Given the description of an element on the screen output the (x, y) to click on. 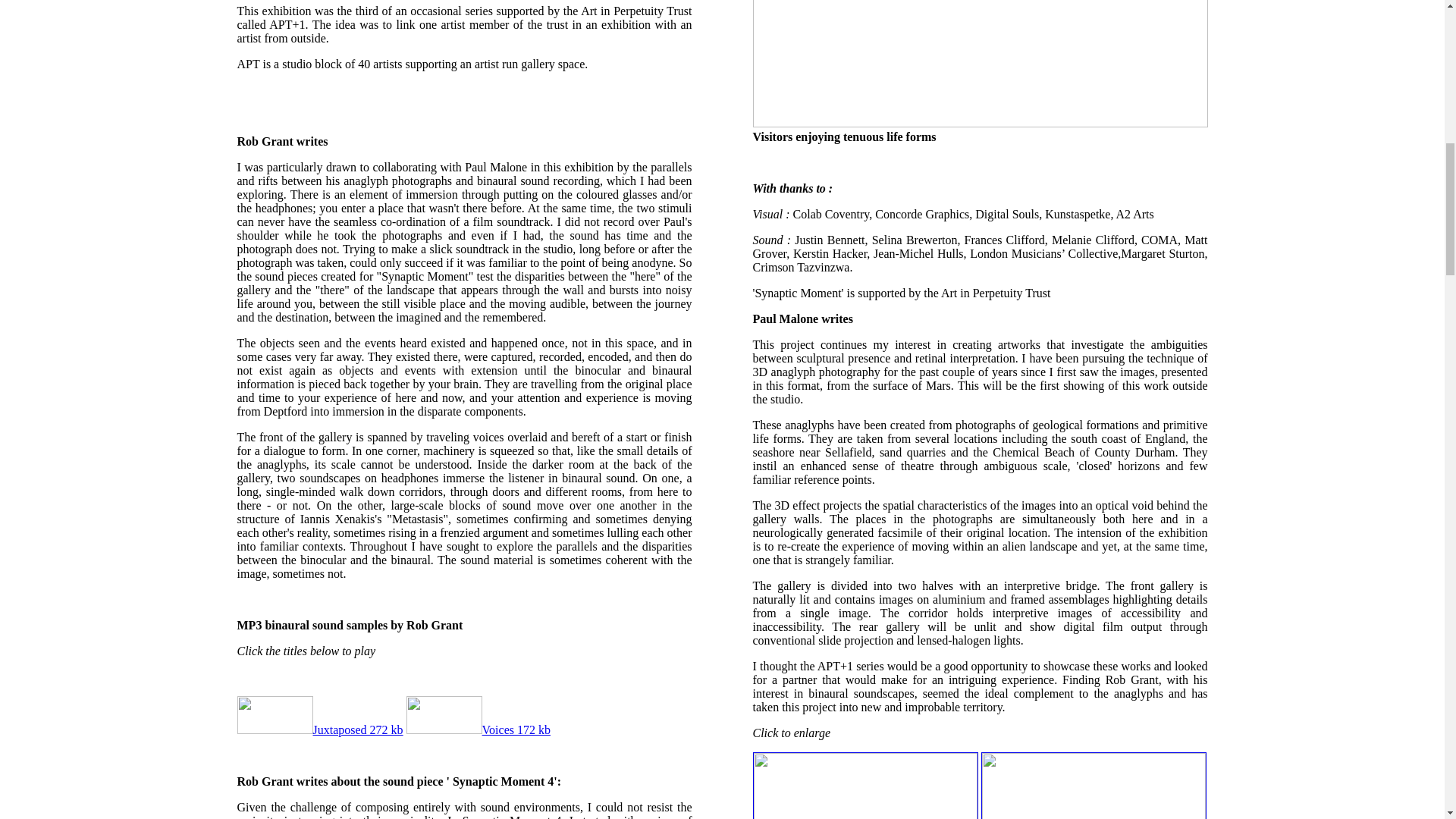
Voices 172 kb (478, 729)
Juxtaposed 272 kb (319, 729)
